Given the description of an element on the screen output the (x, y) to click on. 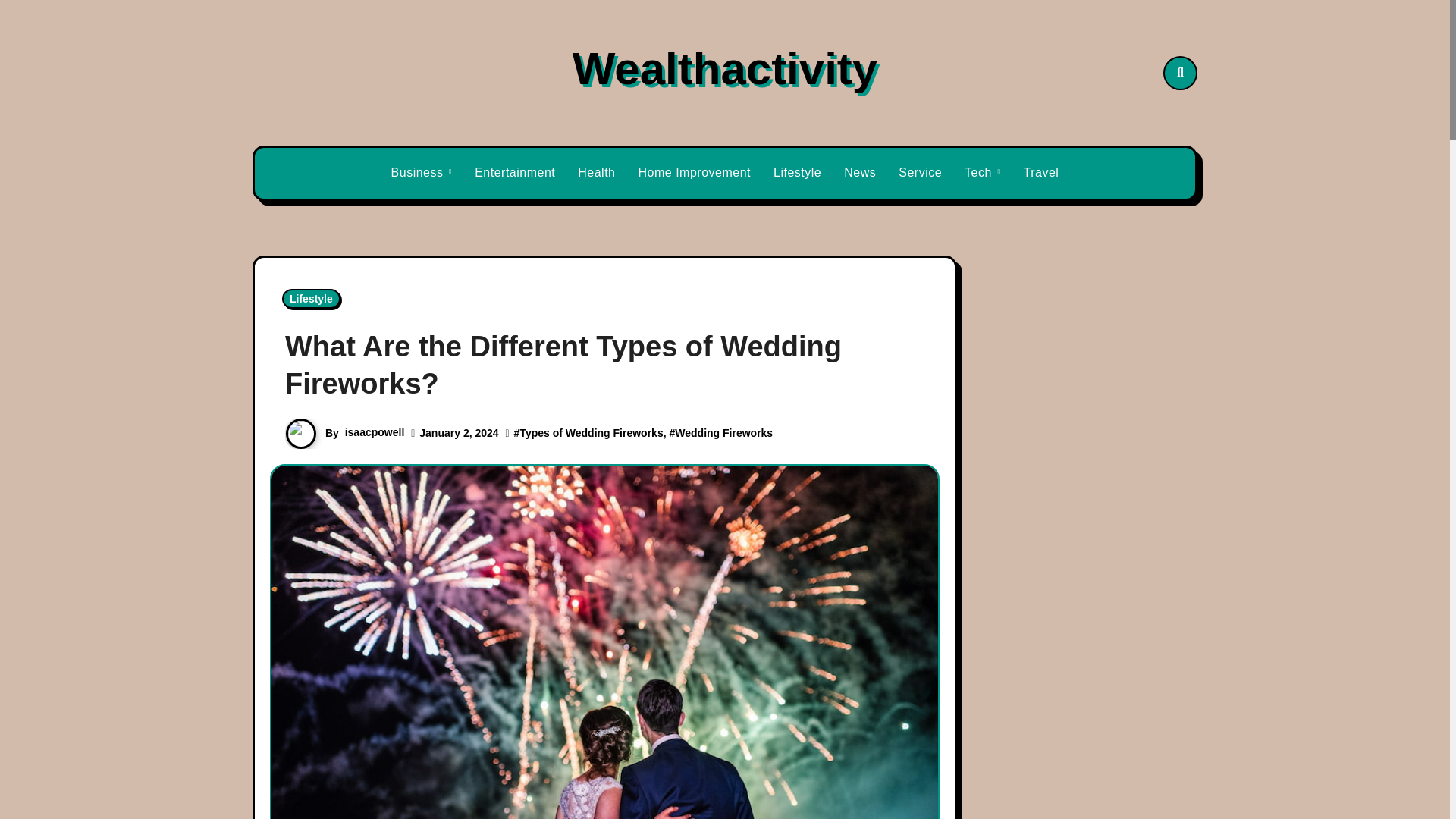
Entertainment (514, 173)
Health (596, 173)
Wedding Fireworks (724, 432)
Business (422, 173)
Travel (1040, 173)
Wealthactivity (724, 68)
Tech (982, 173)
Types of Wedding Fireworks (590, 432)
News (859, 173)
News (859, 173)
isaacpowell (374, 431)
Travel (1040, 173)
Entertainment (514, 173)
January 2, 2024 (458, 432)
Lifestyle (796, 173)
